Given the description of an element on the screen output the (x, y) to click on. 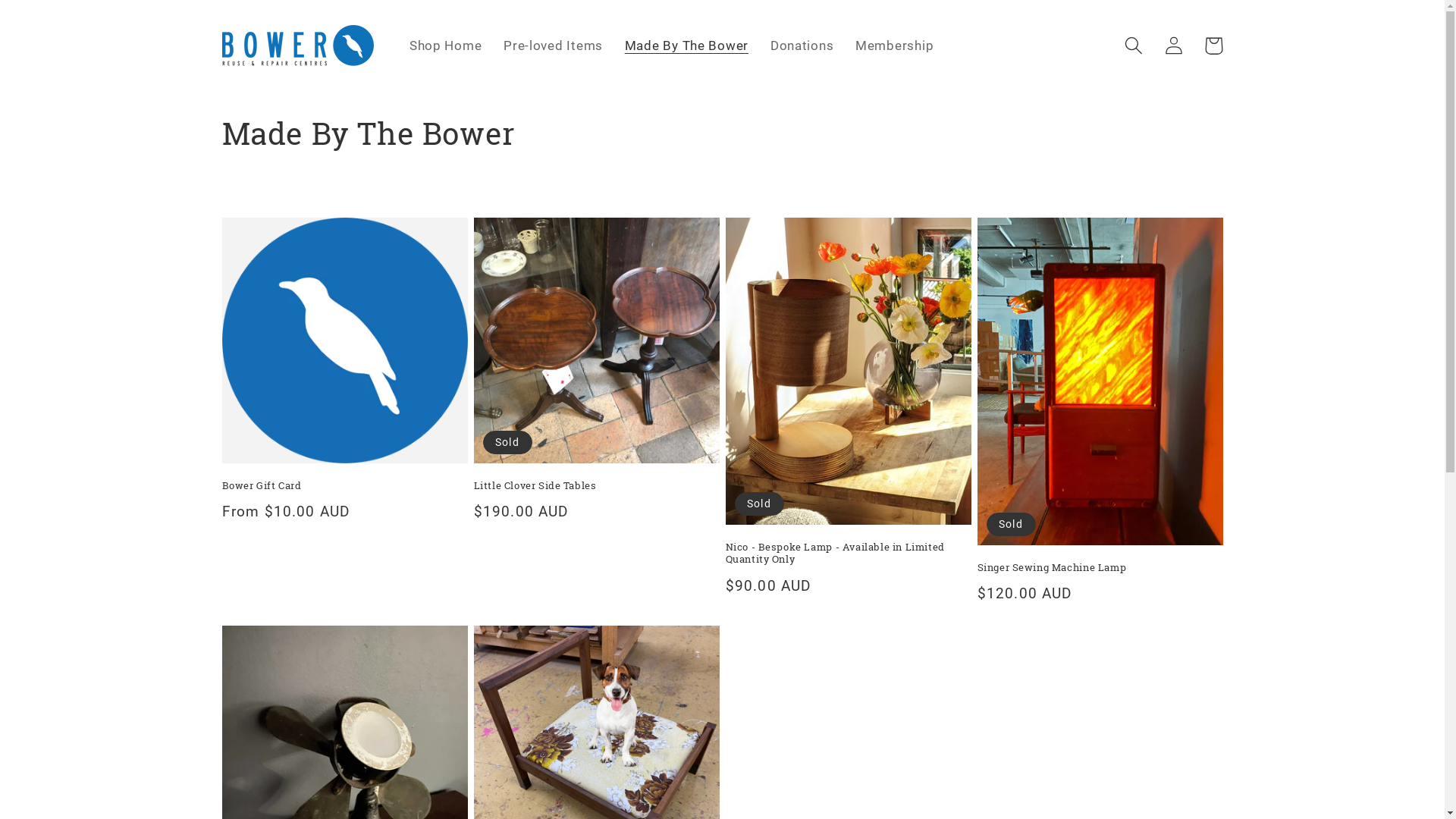
Made By The Bower Element type: text (686, 45)
Singer Sewing Machine Lamp Element type: text (1099, 567)
Nico - Bespoke Lamp - Available in Limited Quantity Only Element type: text (847, 553)
Bower Gift Card Element type: text (344, 485)
Membership Element type: text (894, 45)
Pre-loved Items Element type: text (553, 45)
Cart Element type: text (1213, 45)
Shop Home Element type: text (445, 45)
Log in Element type: text (1173, 45)
Little Clover Side Tables Element type: text (595, 485)
Donations Element type: text (801, 45)
